Given the description of an element on the screen output the (x, y) to click on. 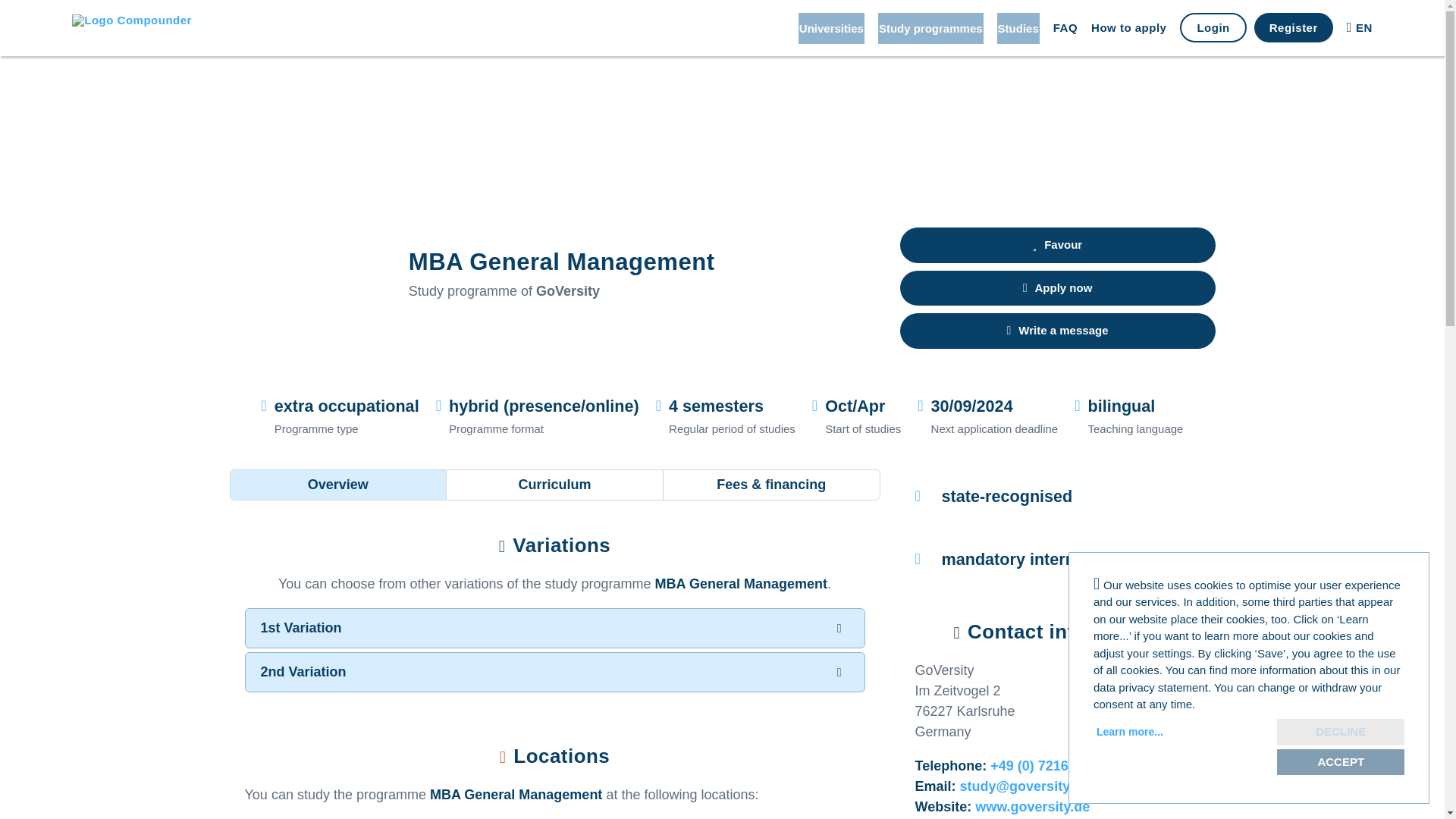
Find all study programmes on Compounder (930, 27)
To the homepage of Compounder (138, 27)
Studies (1018, 27)
Study programmes (930, 27)
Find all universities on Compounder (830, 27)
Universities (830, 27)
